Given the description of an element on the screen output the (x, y) to click on. 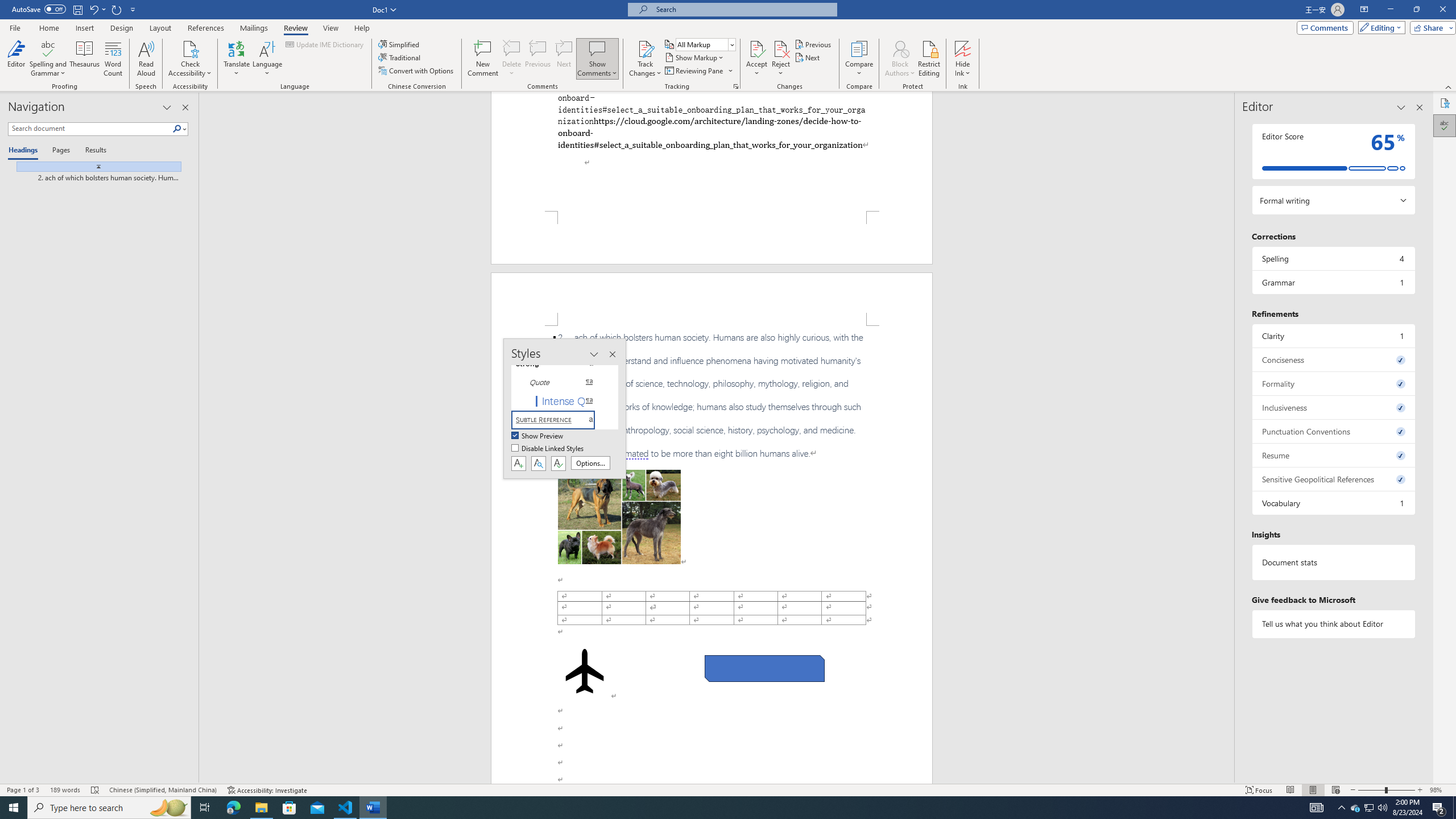
Restrict Editing (929, 58)
Previous (813, 44)
Compare (859, 58)
Show Comments (597, 58)
Page 1 content (711, 151)
Editor (1444, 125)
Comments (1325, 27)
Translate (236, 58)
Jump to the beginning (94, 166)
Minimize (1390, 9)
Next (808, 56)
Close pane (1419, 107)
Page Number Page 1 of 3 (22, 790)
Airplane with solid fill (584, 670)
Spelling, 4 issues. Press space or enter to review items. (1333, 258)
